Given the description of an element on the screen output the (x, y) to click on. 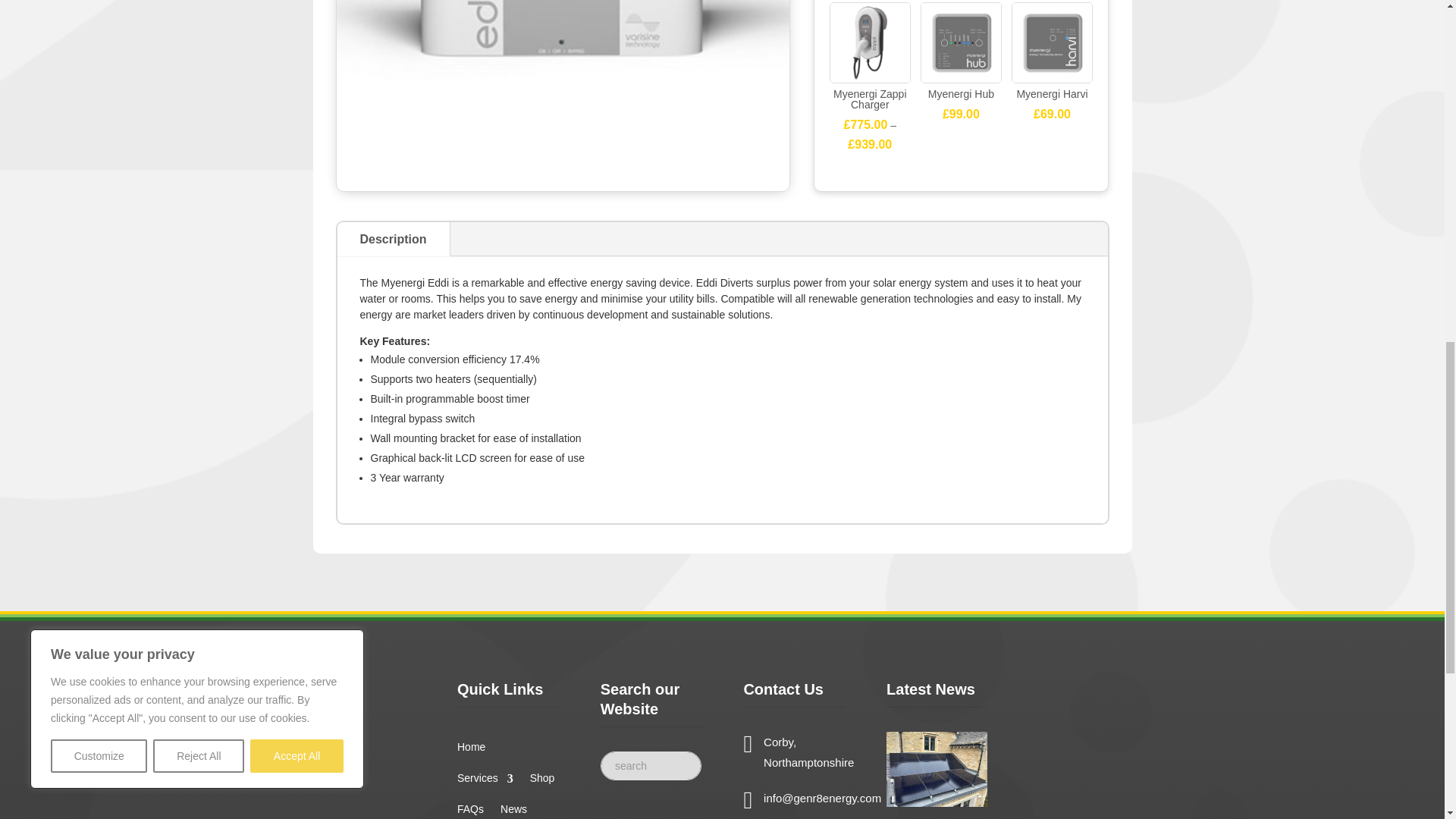
Myenergi Eddi (563, 77)
